Given the description of an element on the screen output the (x, y) to click on. 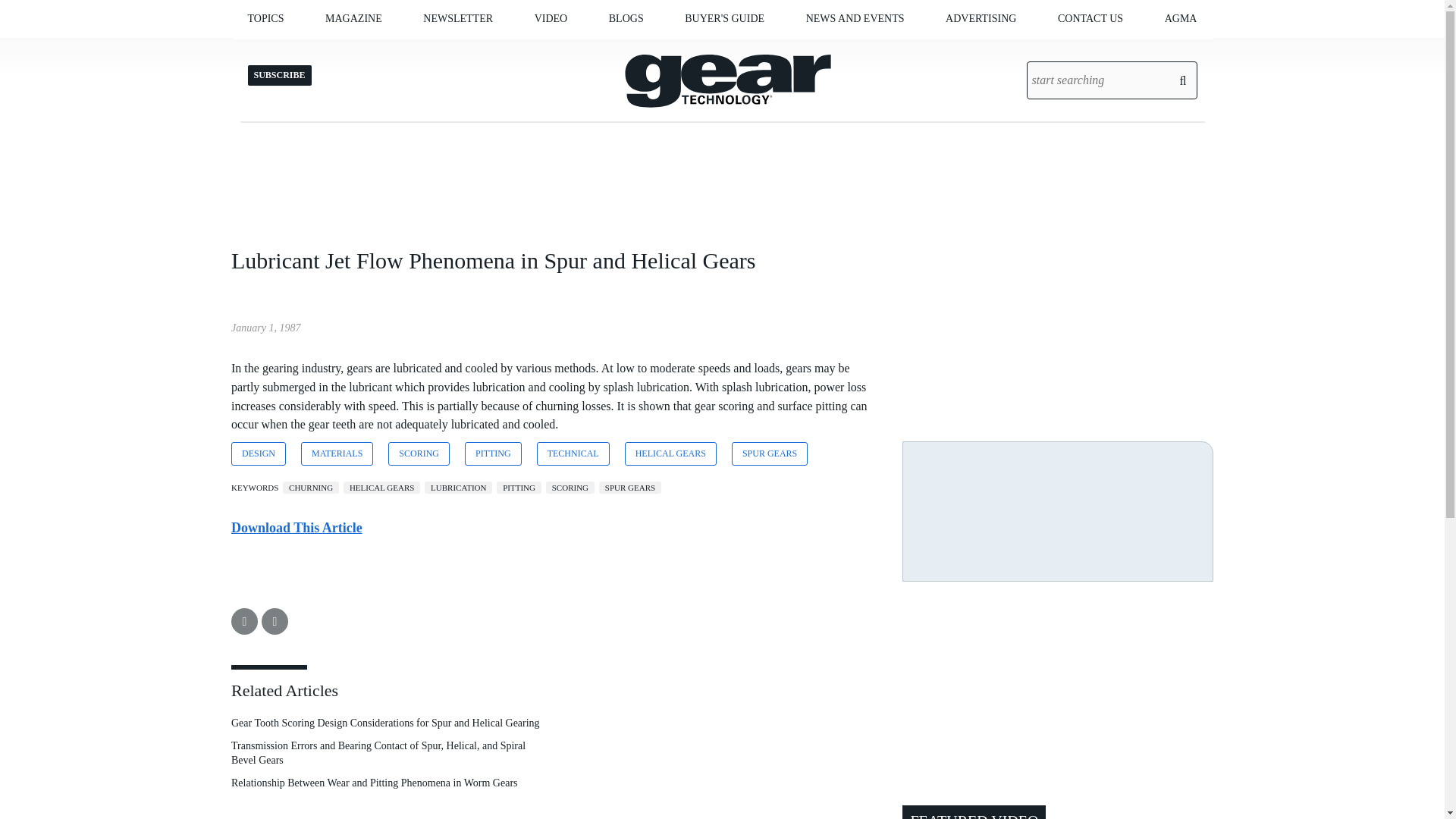
INDUSTRY NEWS (886, 50)
NEWSLETTER (458, 18)
SUBSCRIBE (499, 50)
THE GEAR INDUSTRY (349, 50)
PRODUCT NEWS (882, 50)
BLOGS (625, 18)
MAGAZINE (352, 18)
TOPICS (265, 18)
ARCHIVES (411, 50)
INSPECTION (334, 50)
